Given the description of an element on the screen output the (x, y) to click on. 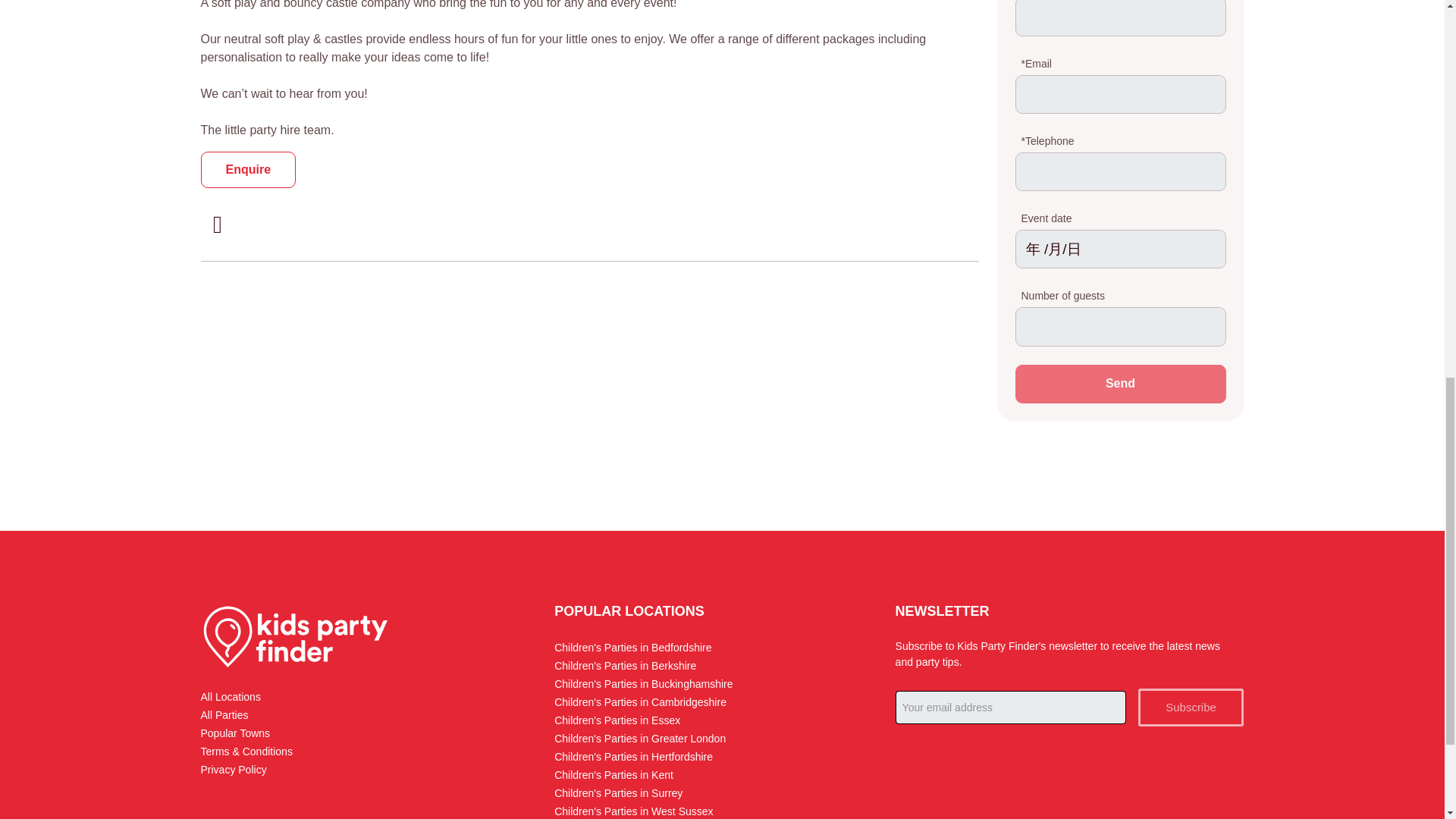
Children's Parties in Surrey (618, 793)
All Parties (223, 715)
Children's Parties in Greater London (639, 738)
Children's Parties in Hertfordshire (633, 756)
Children's Parties in West Sussex (633, 811)
Children's Parties in Essex (616, 720)
Children's Parties in Kent (613, 775)
Children's Parties in Cambridgeshire (640, 702)
Subscribe (1191, 707)
Enquire (247, 169)
